Given the description of an element on the screen output the (x, y) to click on. 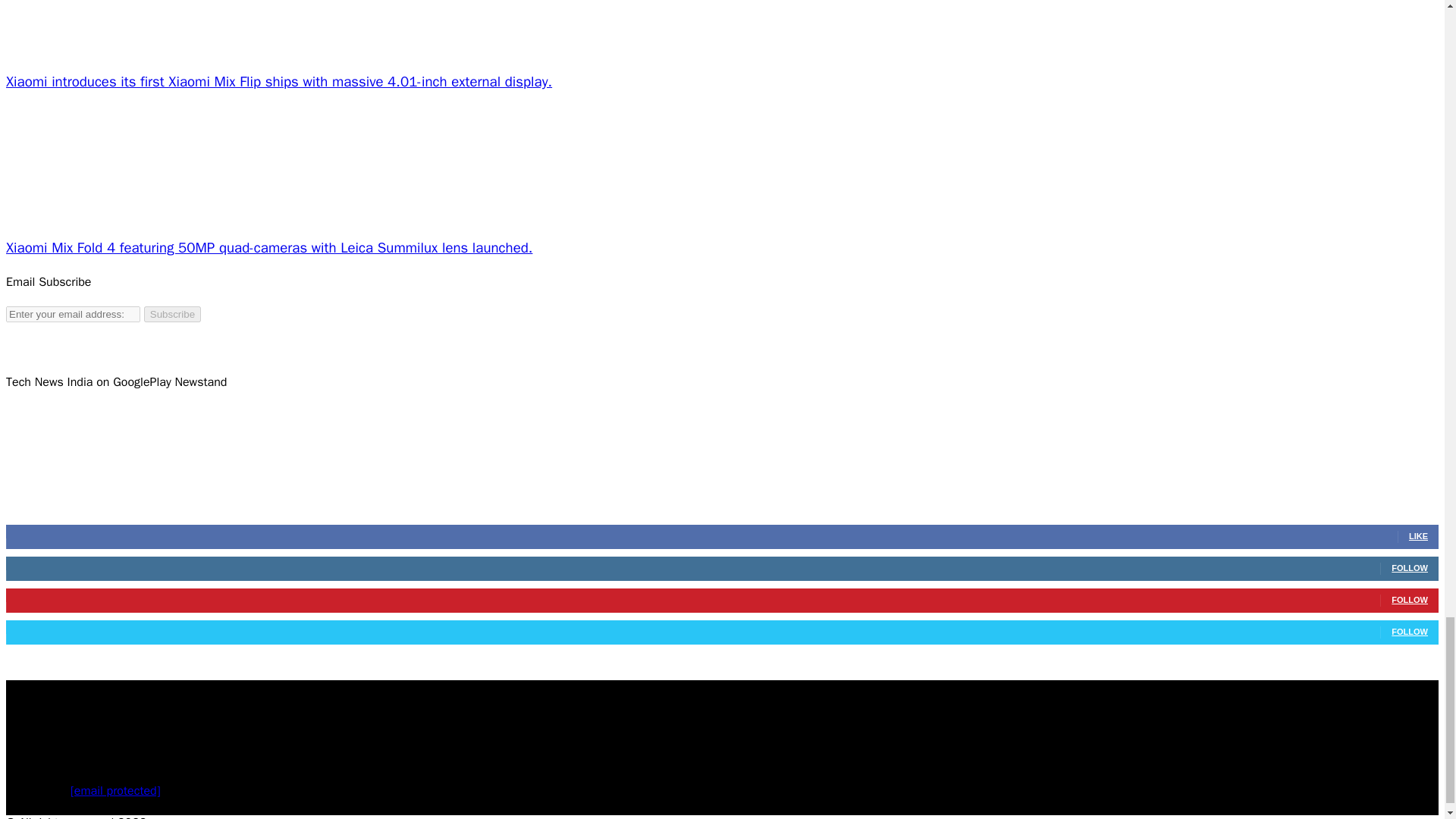
Subscribe (172, 314)
